Given the description of an element on the screen output the (x, y) to click on. 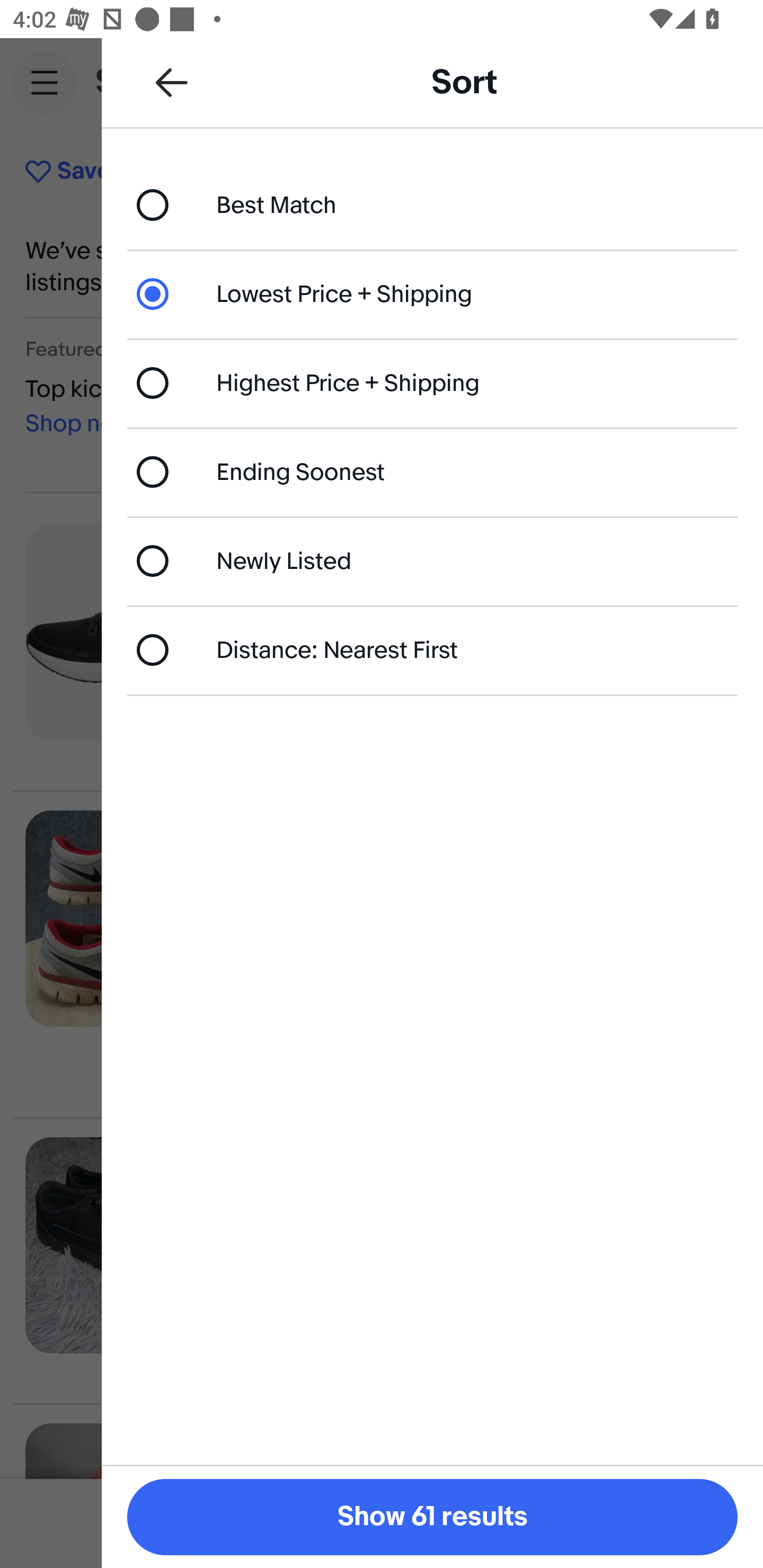
Back to all refinements (171, 81)
Best Match (432, 204)
Highest Price + Shipping (432, 383)
Ending Soonest (432, 471)
Newly Listed (432, 560)
Distance: Nearest First (432, 649)
Show 61 results (432, 1516)
